Given the description of an element on the screen output the (x, y) to click on. 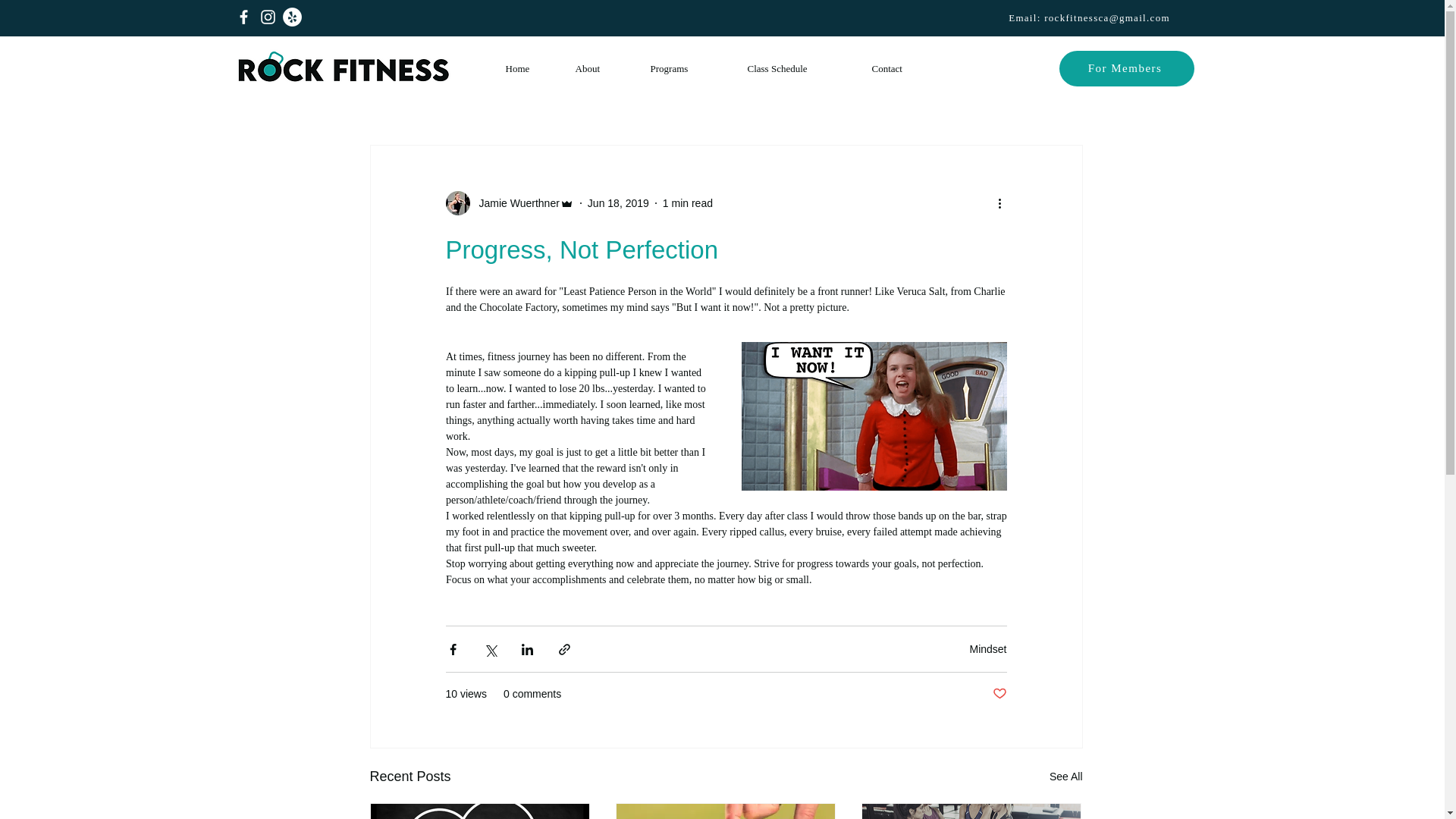
Post not marked as liked (998, 693)
Class Schedule (797, 68)
See All (1066, 776)
Programs (687, 68)
Jun 18, 2019 (618, 203)
For Members (1125, 68)
1 min read (687, 203)
Home (529, 68)
Jamie Wuerthner (514, 203)
Mindset (987, 648)
